Given the description of an element on the screen output the (x, y) to click on. 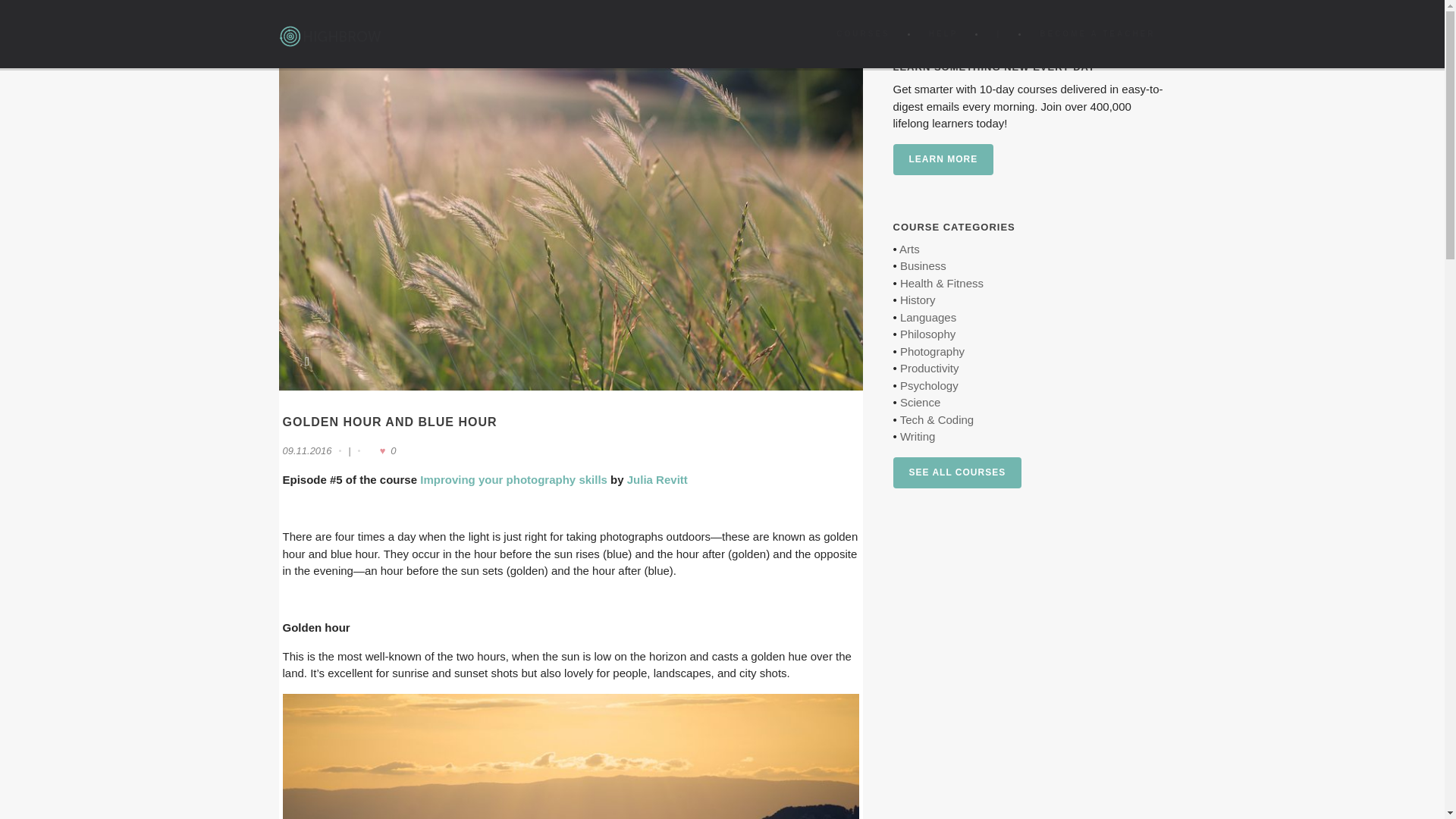
Productivity (929, 367)
Improving your photography skills (513, 479)
LEARN MORE (943, 159)
Courses (862, 33)
Become a teacher (1097, 33)
BECOME A TEACHER (1097, 33)
Like this (381, 451)
Julia Revitt (657, 479)
Psychology (928, 385)
Business (922, 265)
